Given the description of an element on the screen output the (x, y) to click on. 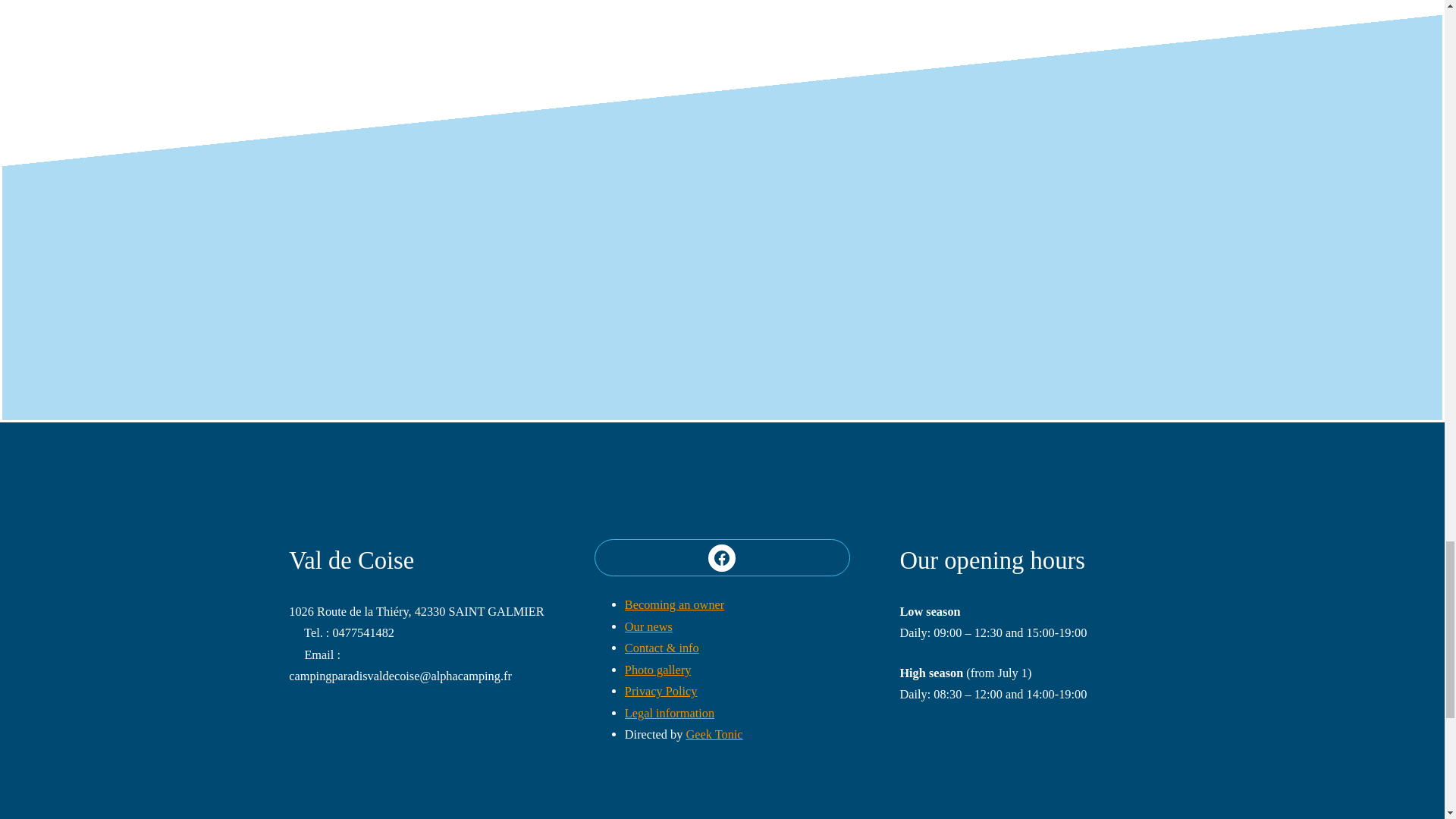
Becoming an owner (673, 604)
Photo gallery (657, 669)
Our news (648, 626)
Legal information (669, 712)
Privacy Policy (660, 690)
Facebook (721, 557)
Geek Tonic (713, 734)
